Given the description of an element on the screen output the (x, y) to click on. 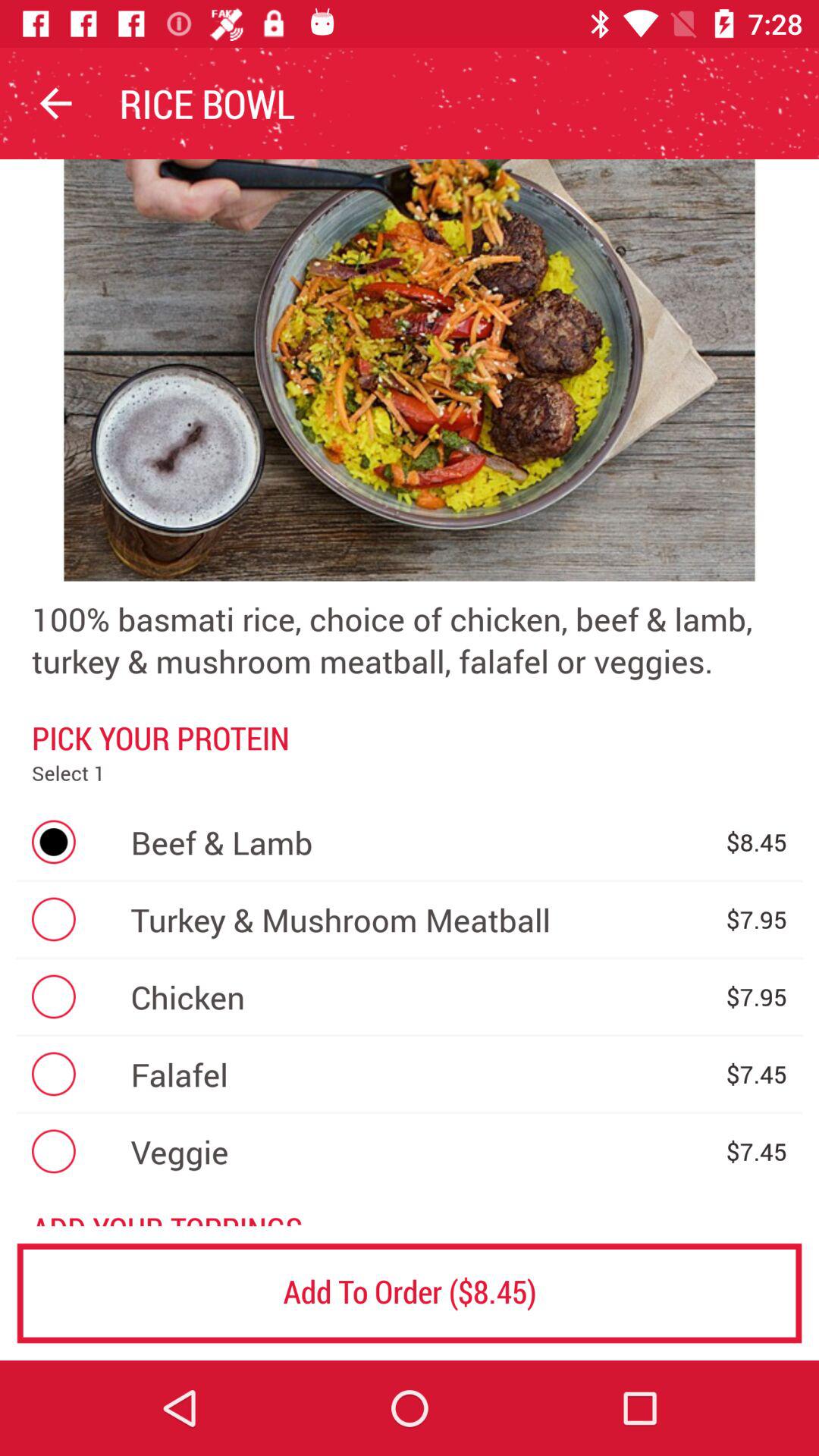
click the veggie icon (420, 1151)
